Given the description of an element on the screen output the (x, y) to click on. 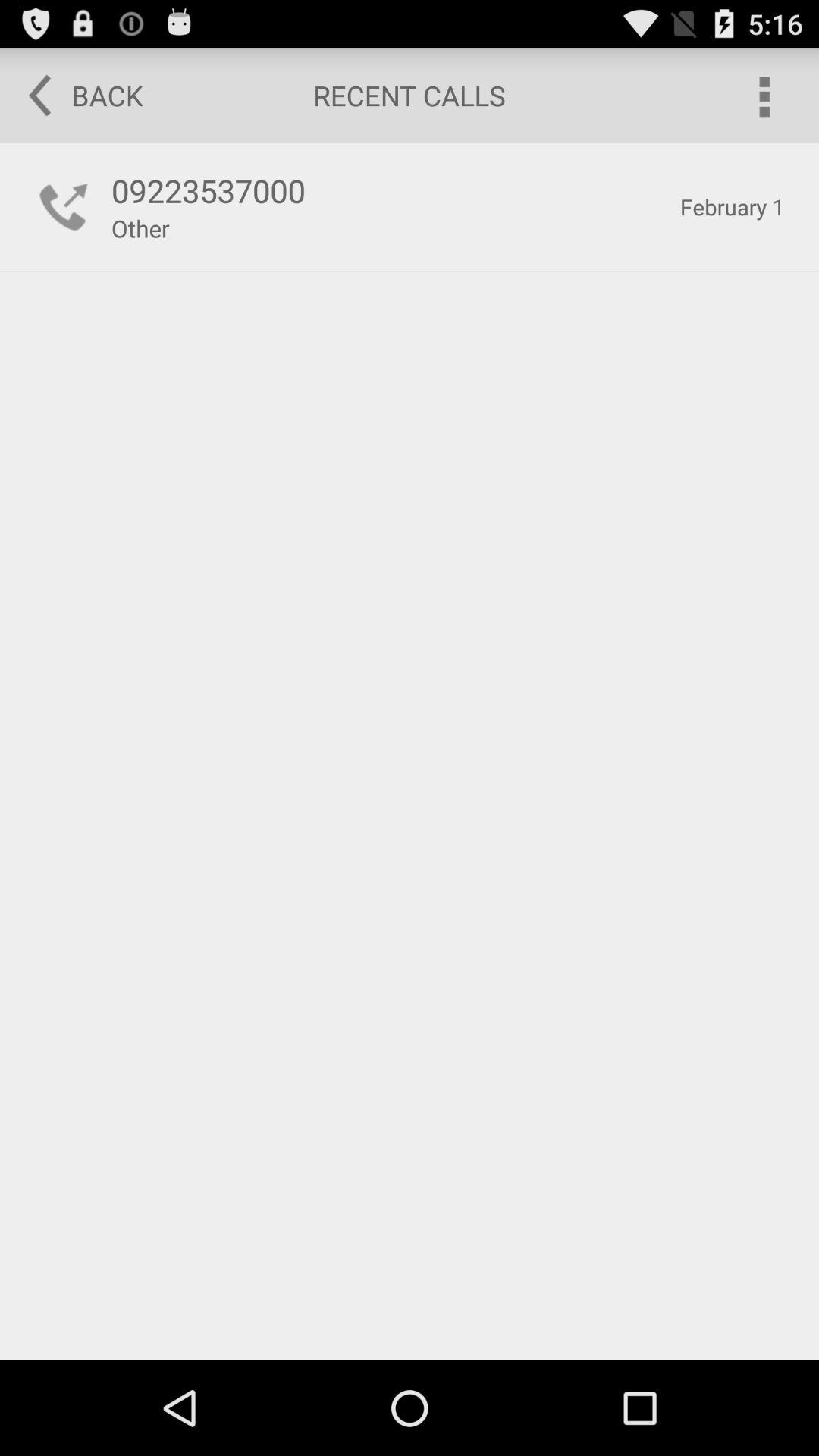
choose the icon to the right of recent calls item (763, 95)
